Given the description of an element on the screen output the (x, y) to click on. 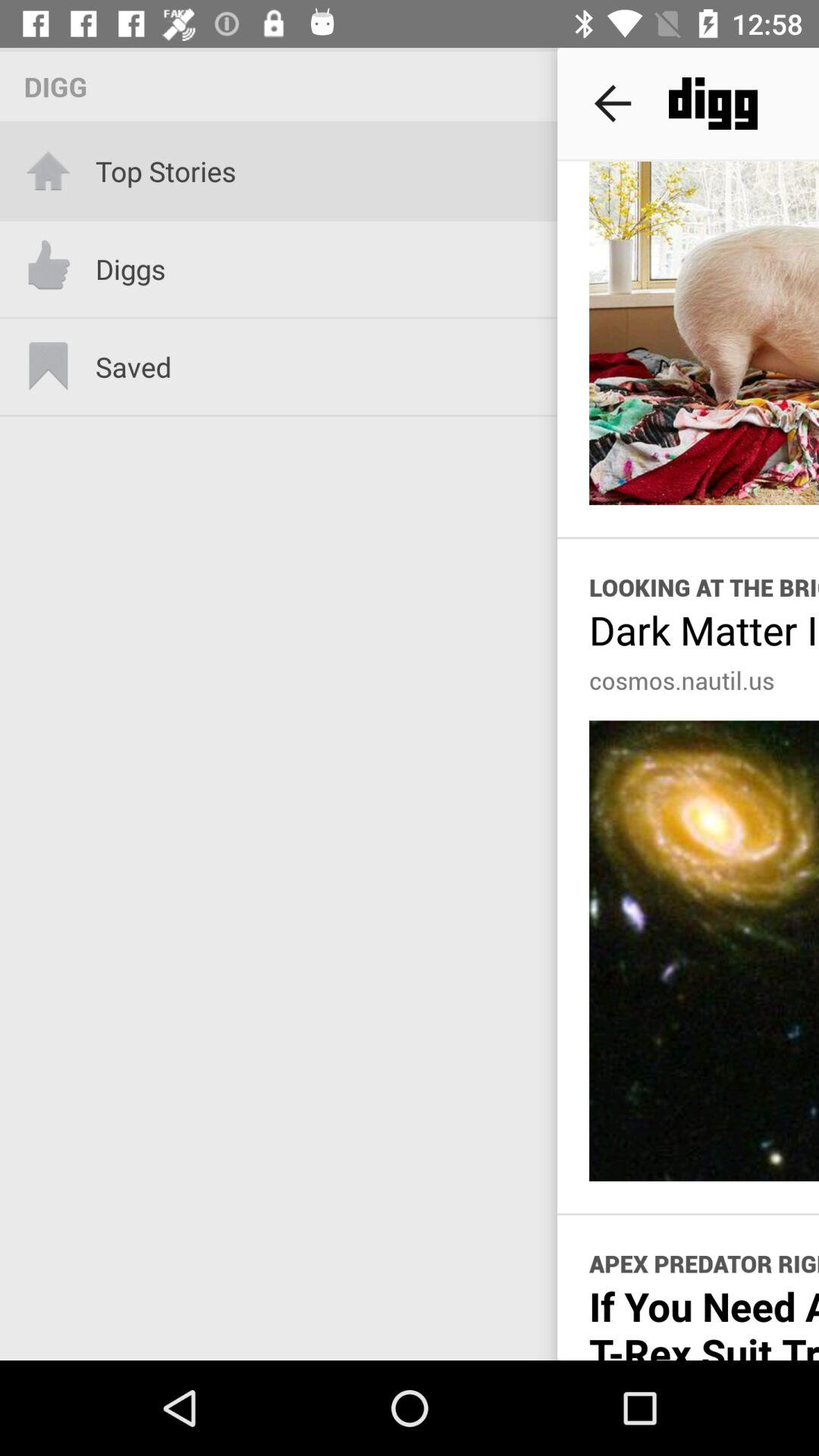
choose the if you need icon (704, 1319)
